Given the description of an element on the screen output the (x, y) to click on. 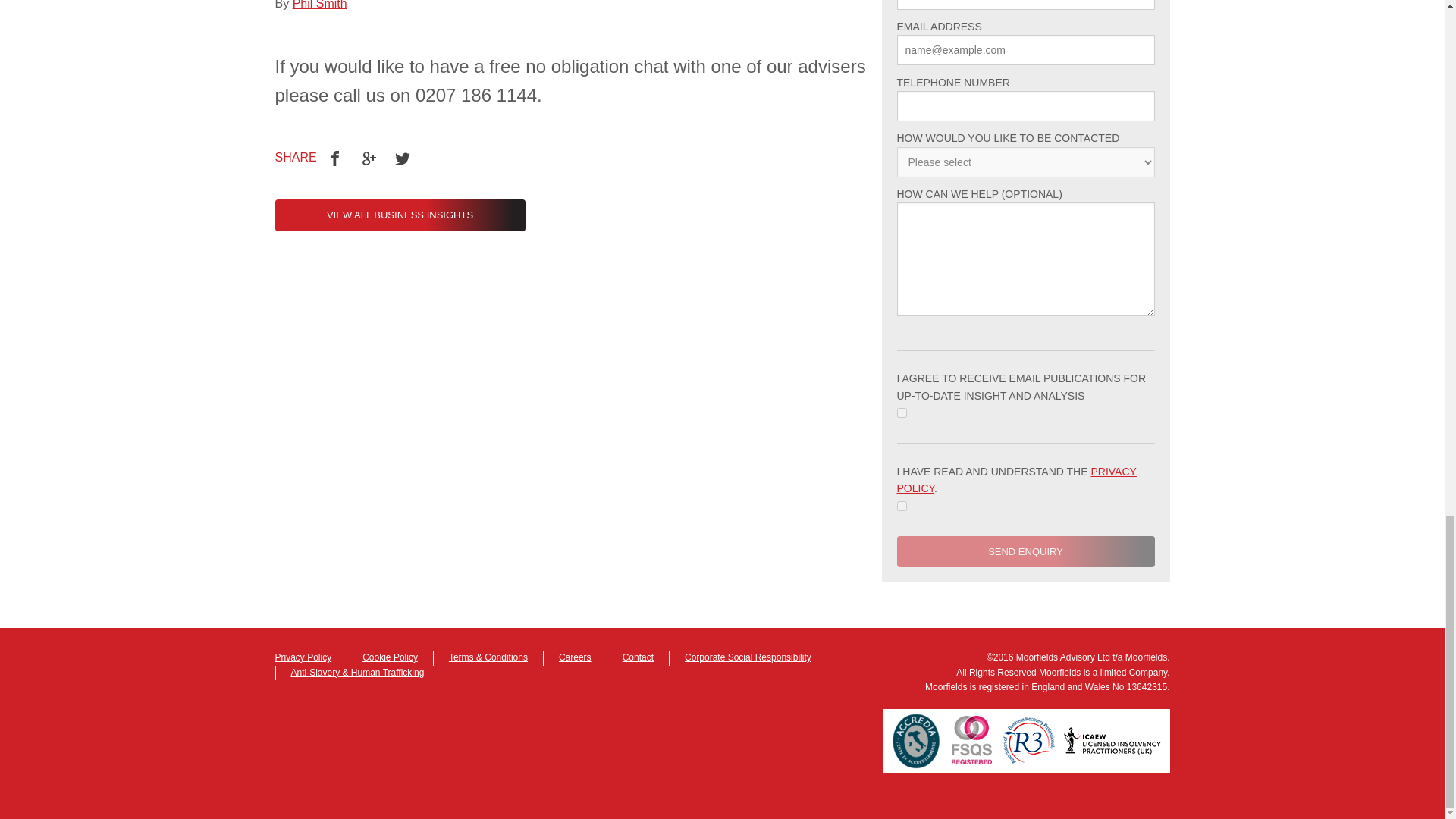
true (900, 412)
privacy policy (1015, 480)
Understand the privacy policy (900, 506)
Send Enquiry (1025, 552)
on (900, 506)
